Given the description of an element on the screen output the (x, y) to click on. 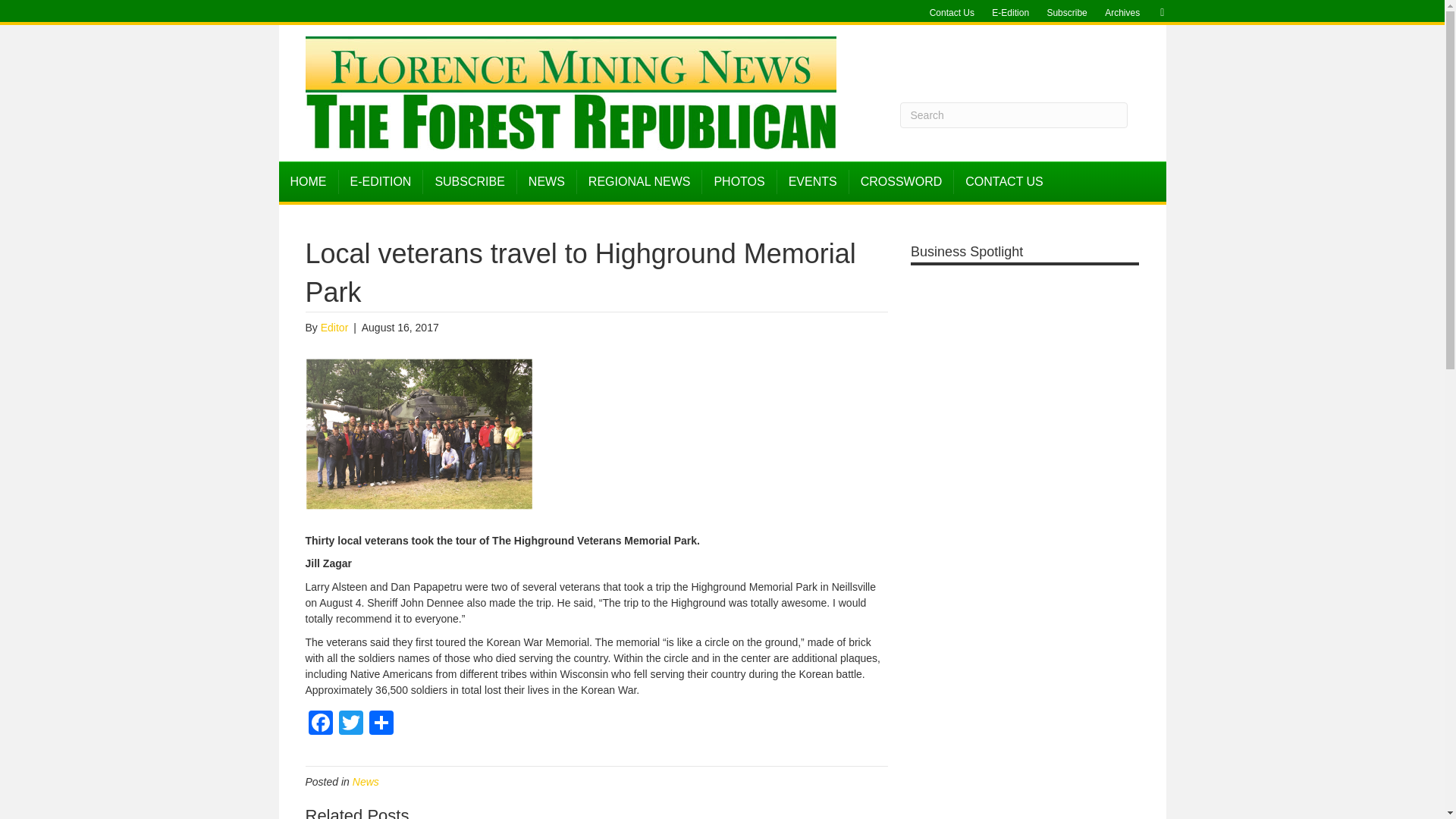
REGIONAL NEWS (639, 181)
Contact Us (951, 13)
Editor (334, 327)
PHOTOS (738, 181)
E-EDITION (380, 181)
Type and press Enter to search. (1012, 114)
NEWS (546, 181)
Twitter (349, 724)
SUBSCRIBE (469, 181)
EVENTS (812, 181)
Twitter (349, 724)
Facebook (319, 724)
CROSSWORD (901, 181)
CONTACT US (1003, 181)
HOME (309, 181)
